Given the description of an element on the screen output the (x, y) to click on. 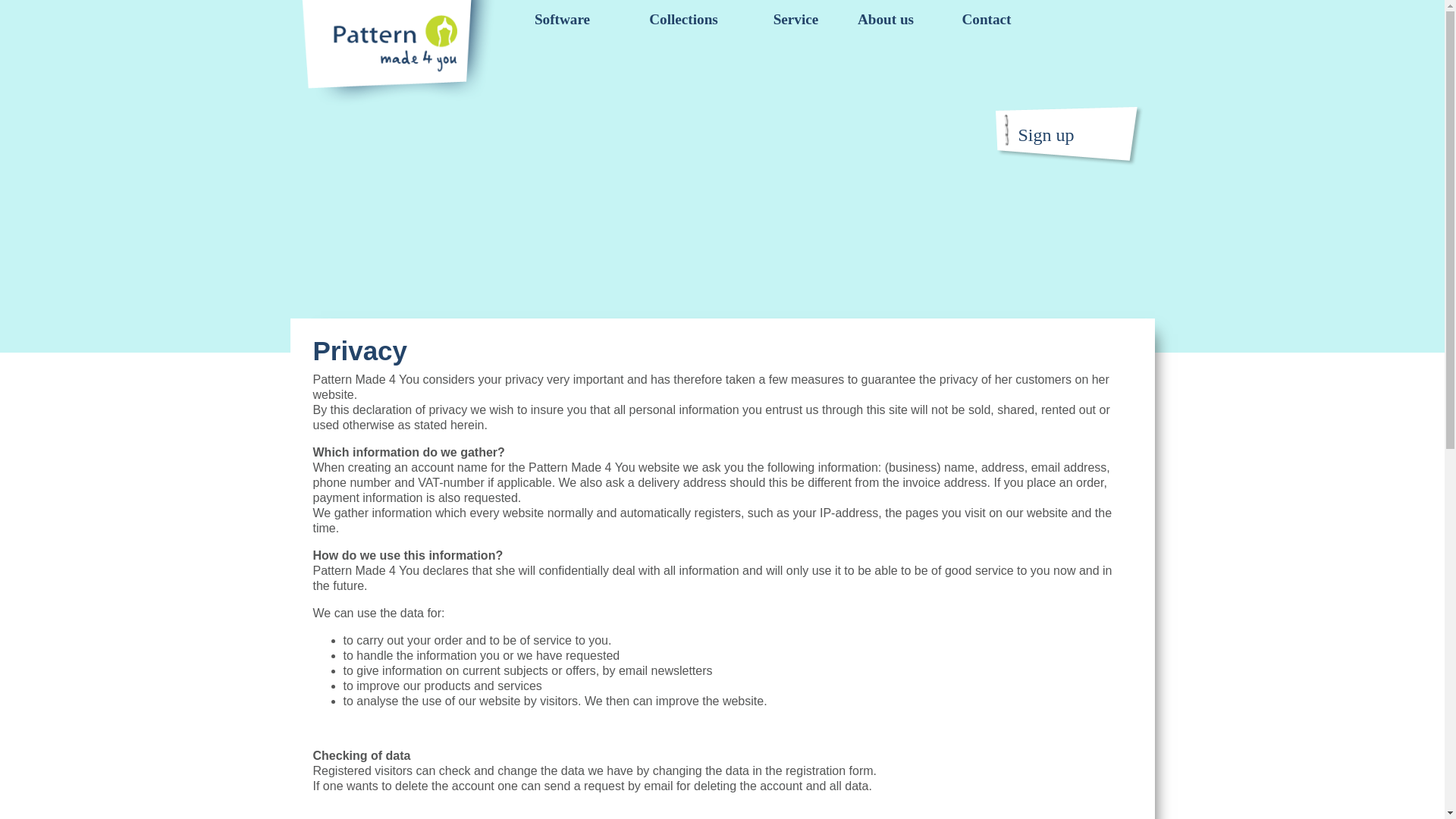
Contact (986, 19)
Collections (683, 19)
About us (885, 19)
Sign up (1045, 134)
Service (795, 19)
Software (561, 19)
